Given the description of an element on the screen output the (x, y) to click on. 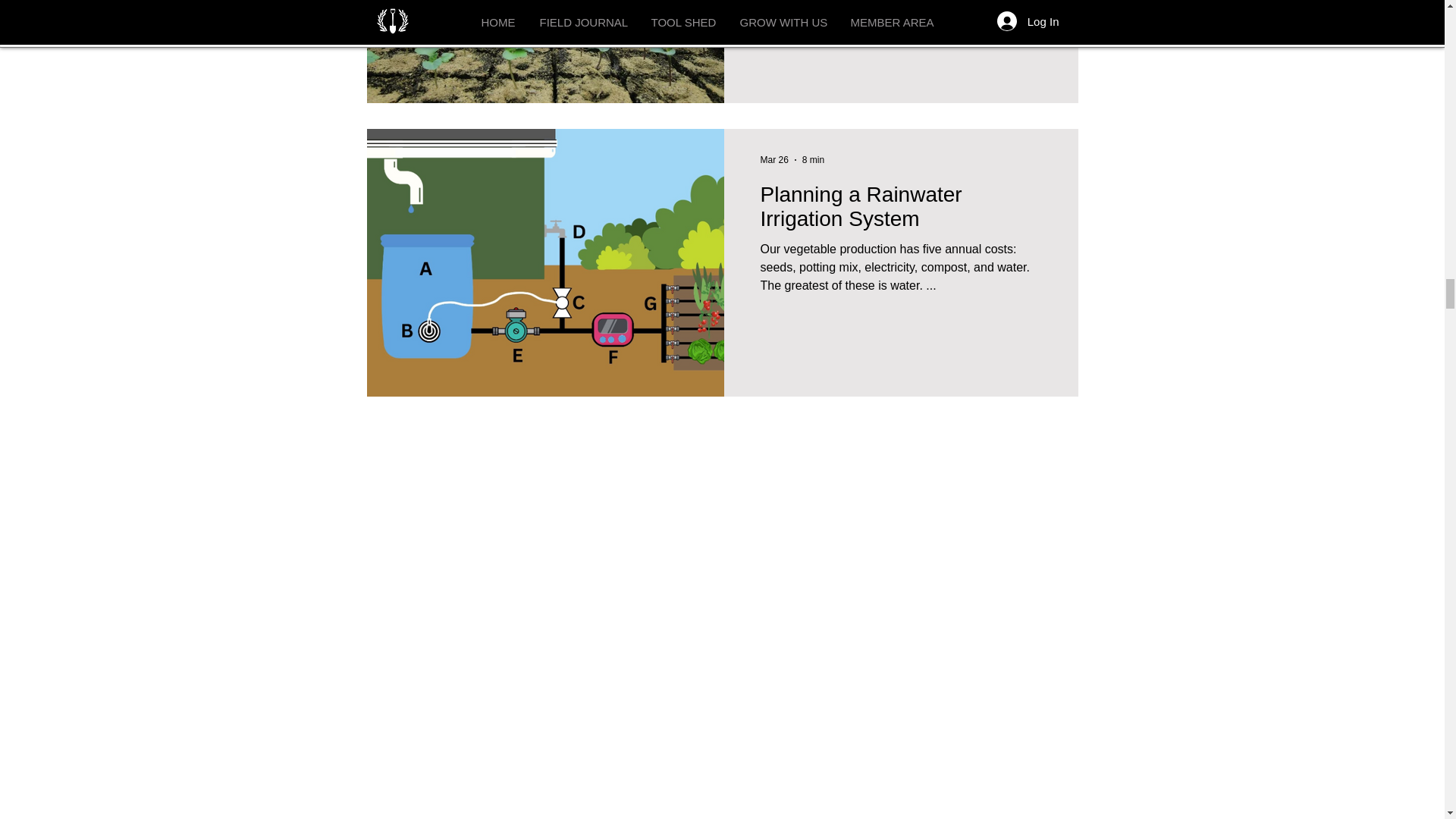
8 min (813, 159)
Planning a Rainwater Irrigation System (900, 210)
Mar 26 (773, 159)
